Given the description of an element on the screen output the (x, y) to click on. 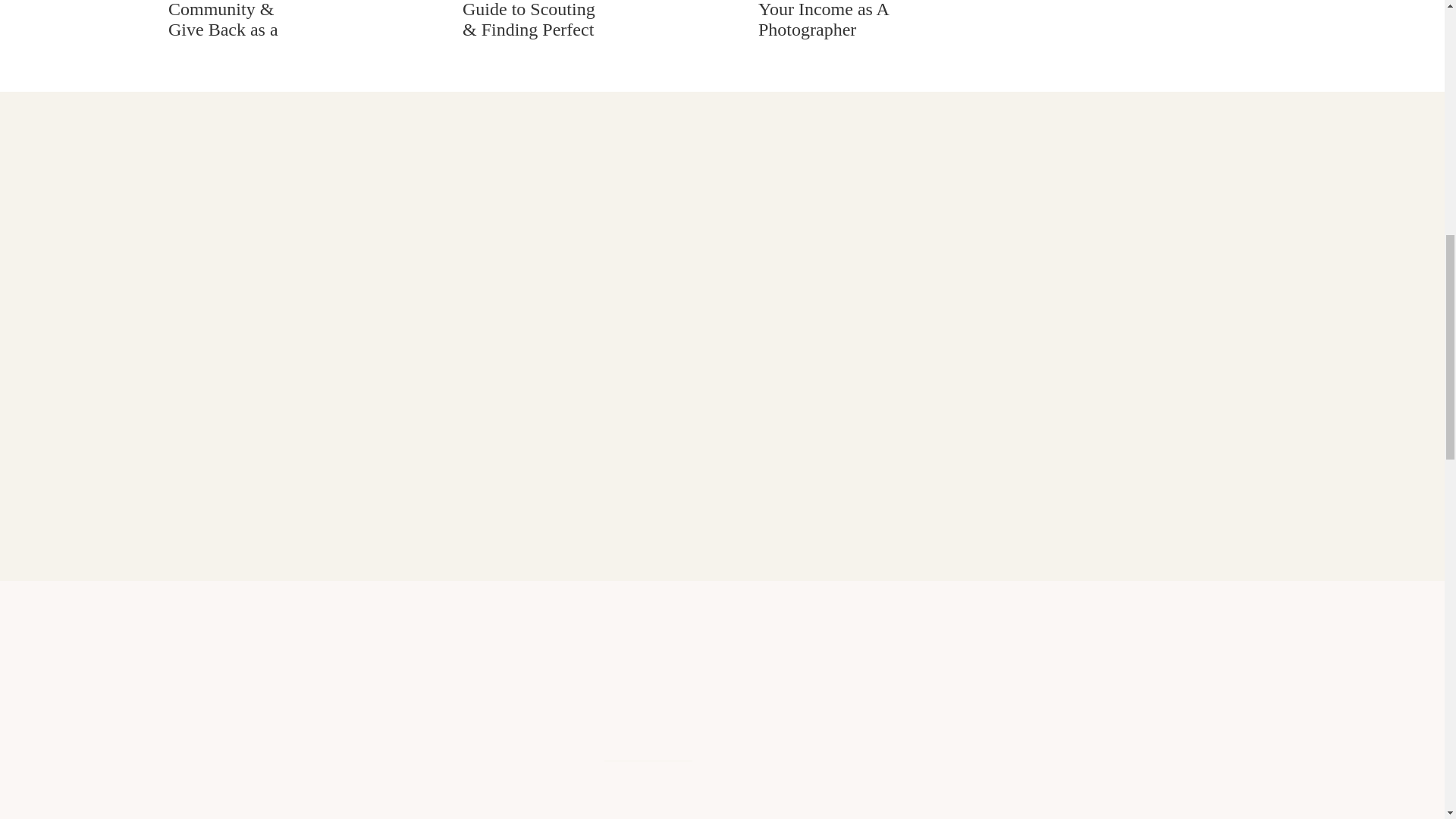
How to Diversify Your Income as A Photographer (674, 24)
How to Diversify Your Income as A Photographer (823, 19)
